Given the description of an element on the screen output the (x, y) to click on. 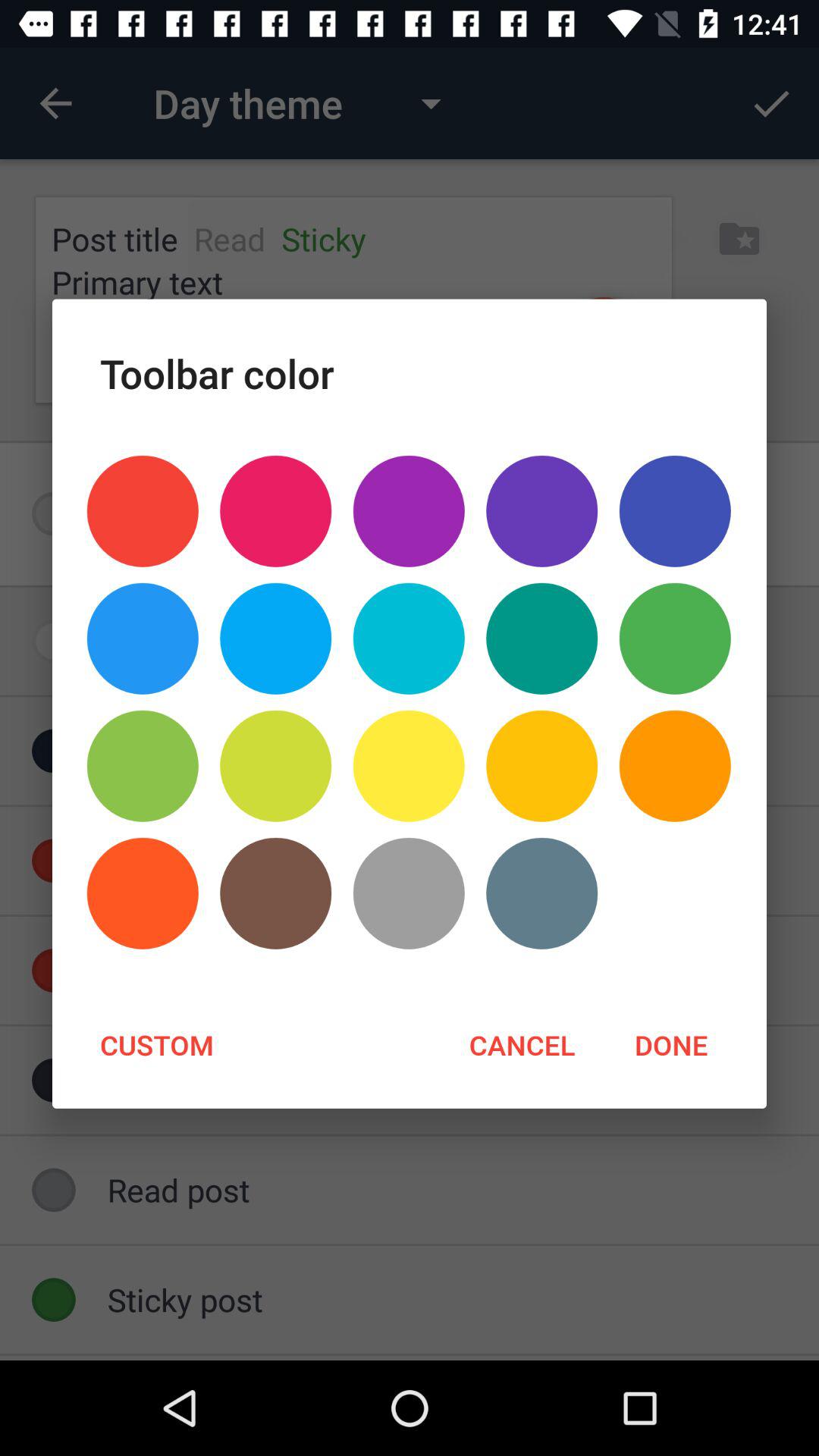
tap the item to the left of the done icon (522, 1044)
